Given the description of an element on the screen output the (x, y) to click on. 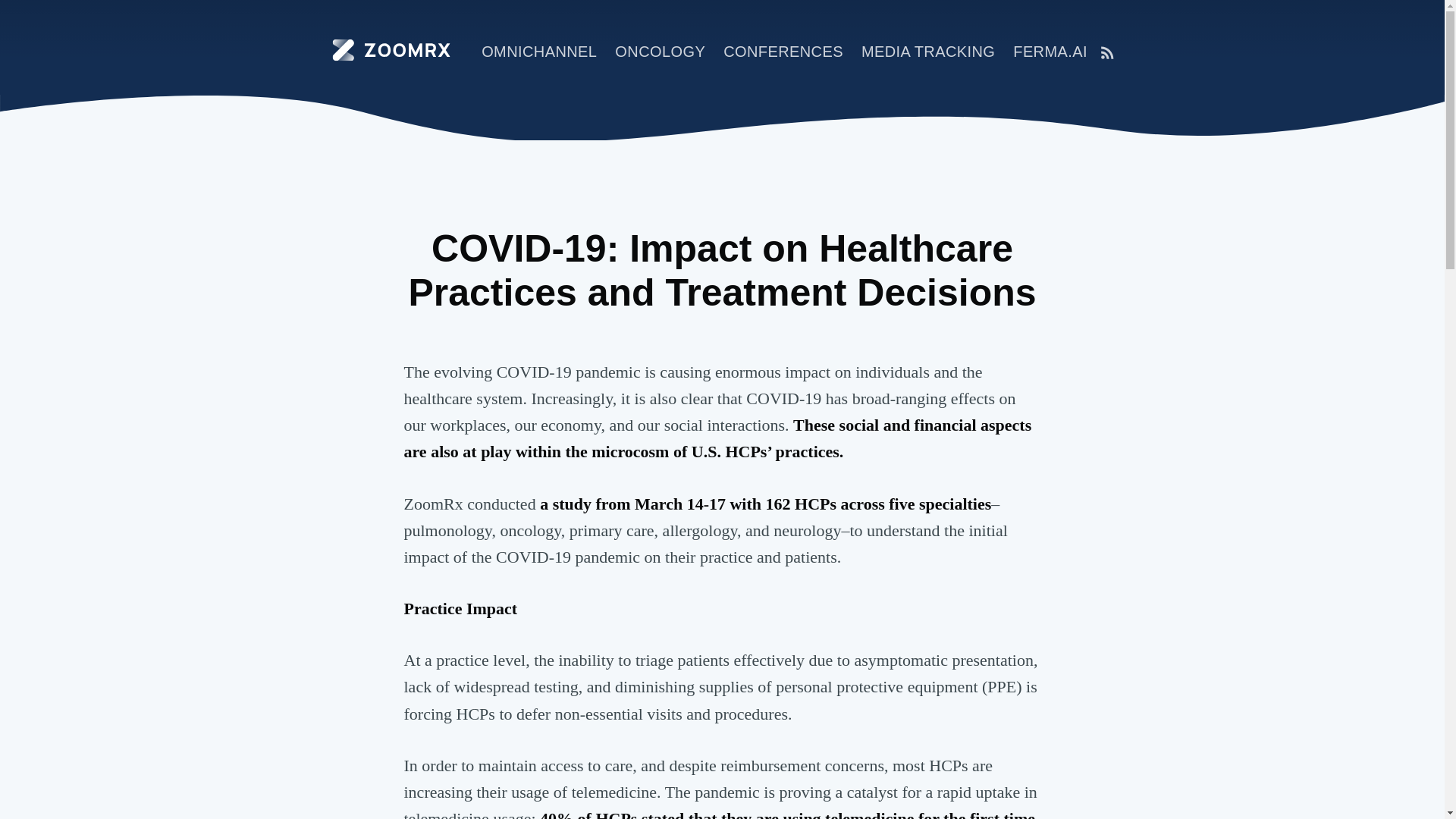
MEDIA TRACKING (927, 51)
HCP-PT (1324, 51)
ONCOLOGY (659, 51)
CONFERENCES (782, 51)
OMNICHANNEL (538, 51)
RSS (1106, 53)
FERMA.AI (1050, 51)
LAUNCH EXCELLENCE (1191, 51)
